Given the description of an element on the screen output the (x, y) to click on. 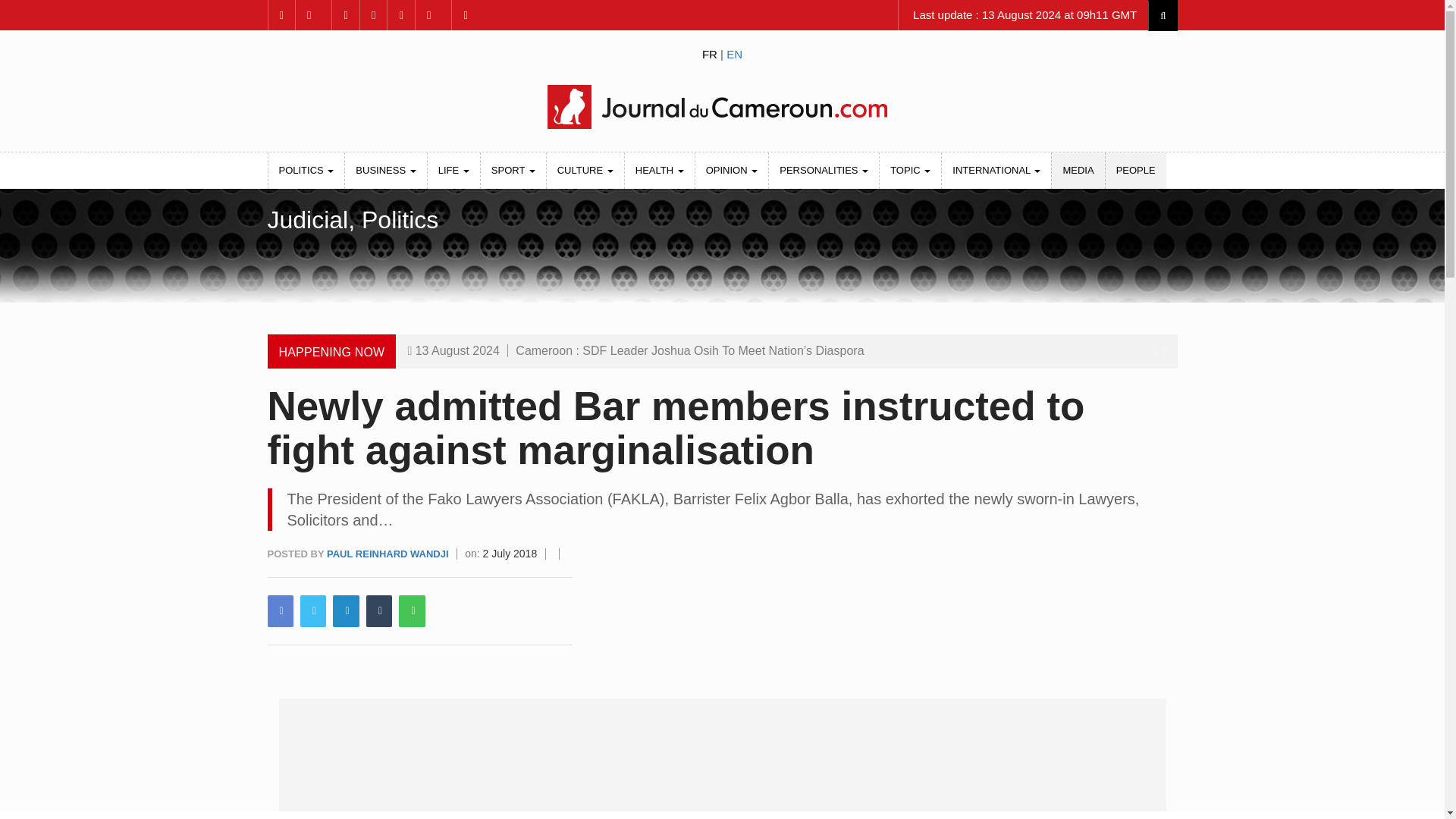
BUSINESS (385, 170)
Last update : 13 August 2024 at 09h11 GMT (1023, 15)
POLITICS (306, 170)
JDC (721, 106)
EN (734, 53)
FR (709, 53)
